Given the description of an element on the screen output the (x, y) to click on. 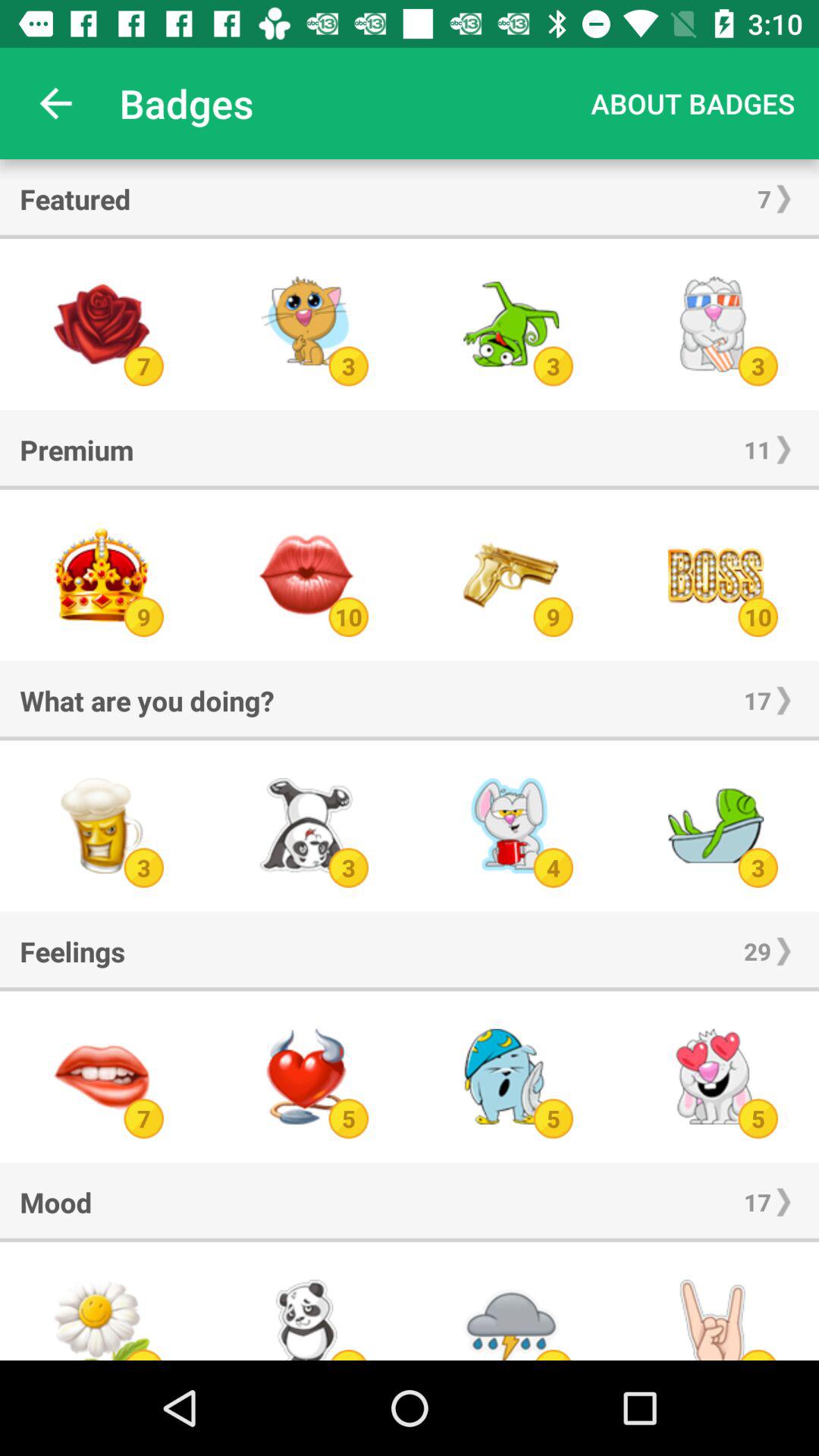
select the item next to badges item (693, 103)
